Given the description of an element on the screen output the (x, y) to click on. 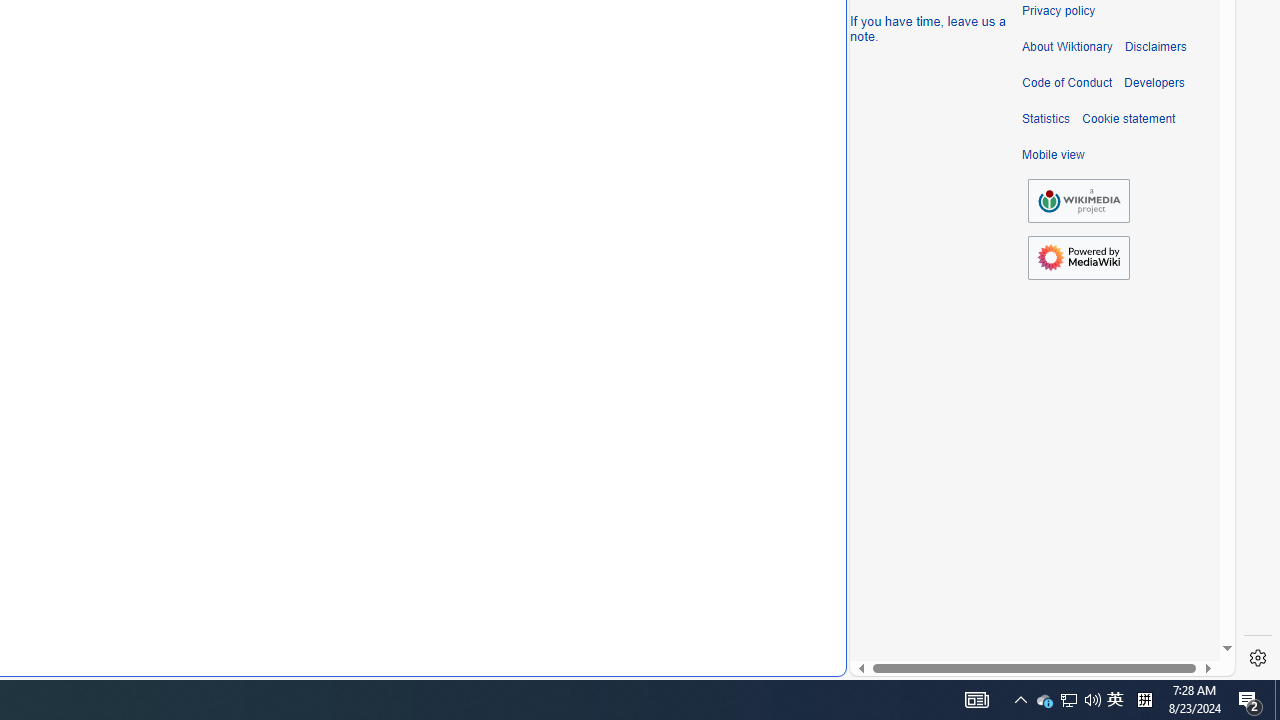
Statistics (1046, 119)
Developers (1154, 83)
Mobile view (1053, 155)
Privacy policy (1058, 11)
Disclaimers (1154, 47)
Cookie statement (1128, 119)
Powered by MediaWiki (1078, 257)
Wikimedia Foundation (1078, 201)
Mobile view (1053, 155)
